Given the description of an element on the screen output the (x, y) to click on. 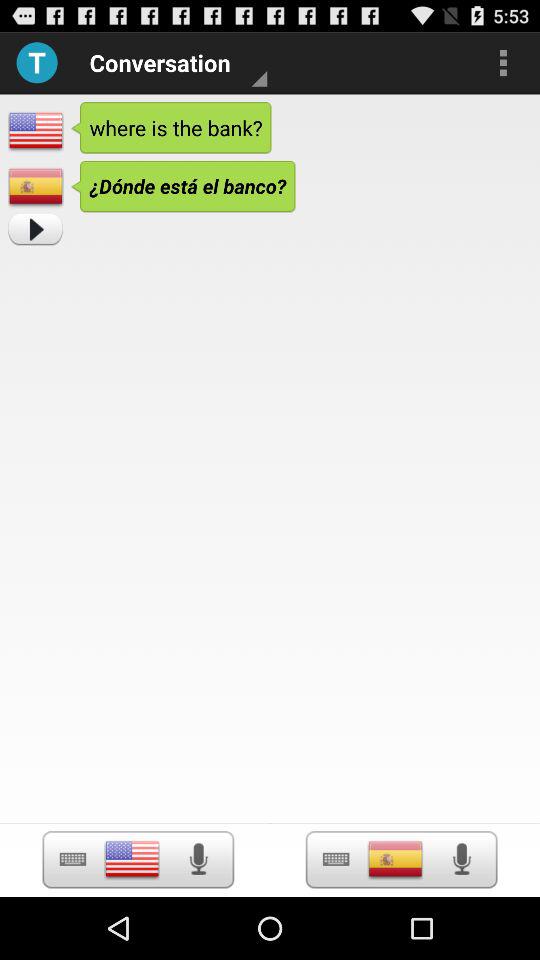
play button (335, 859)
